Given the description of an element on the screen output the (x, y) to click on. 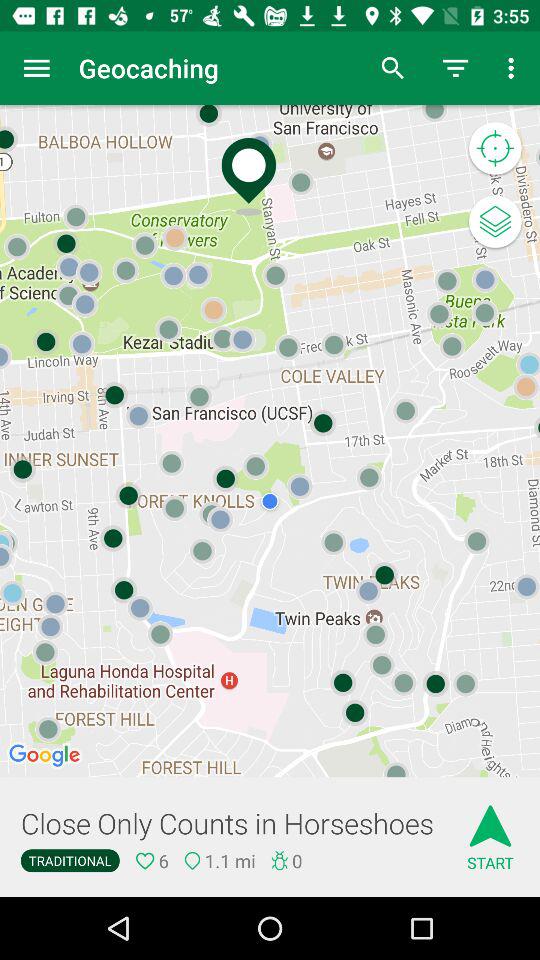
click icon below the close only counts (70, 860)
